Given the description of an element on the screen output the (x, y) to click on. 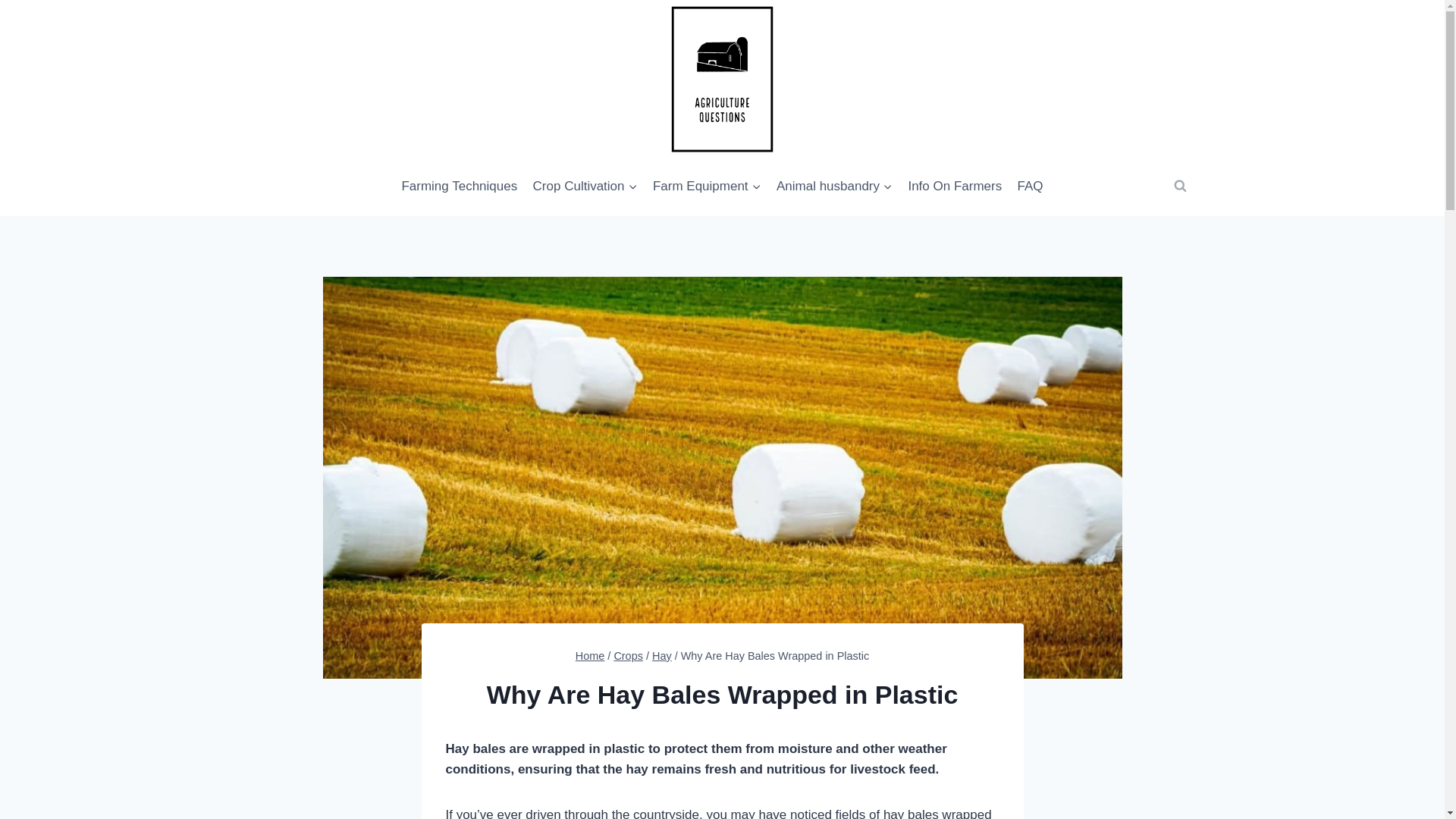
Home (590, 655)
Hay (661, 655)
Info On Farmers (954, 186)
Farm Equipment (706, 186)
Farming Techniques (458, 186)
FAQ (1029, 186)
Crops (627, 655)
Crop Cultivation (584, 186)
